Given the description of an element on the screen output the (x, y) to click on. 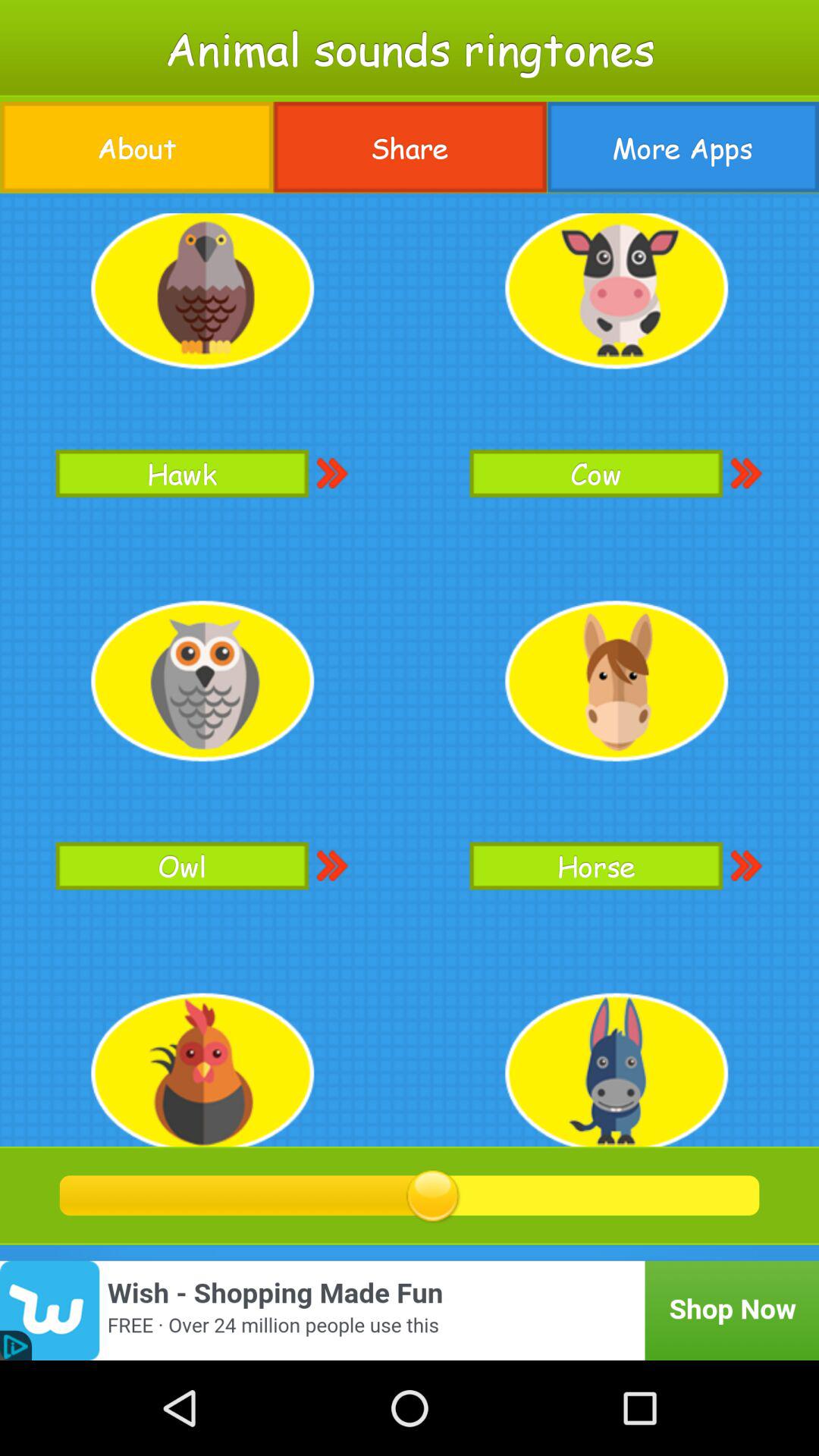
click item below animal sounds ringtones icon (136, 147)
